Given the description of an element on the screen output the (x, y) to click on. 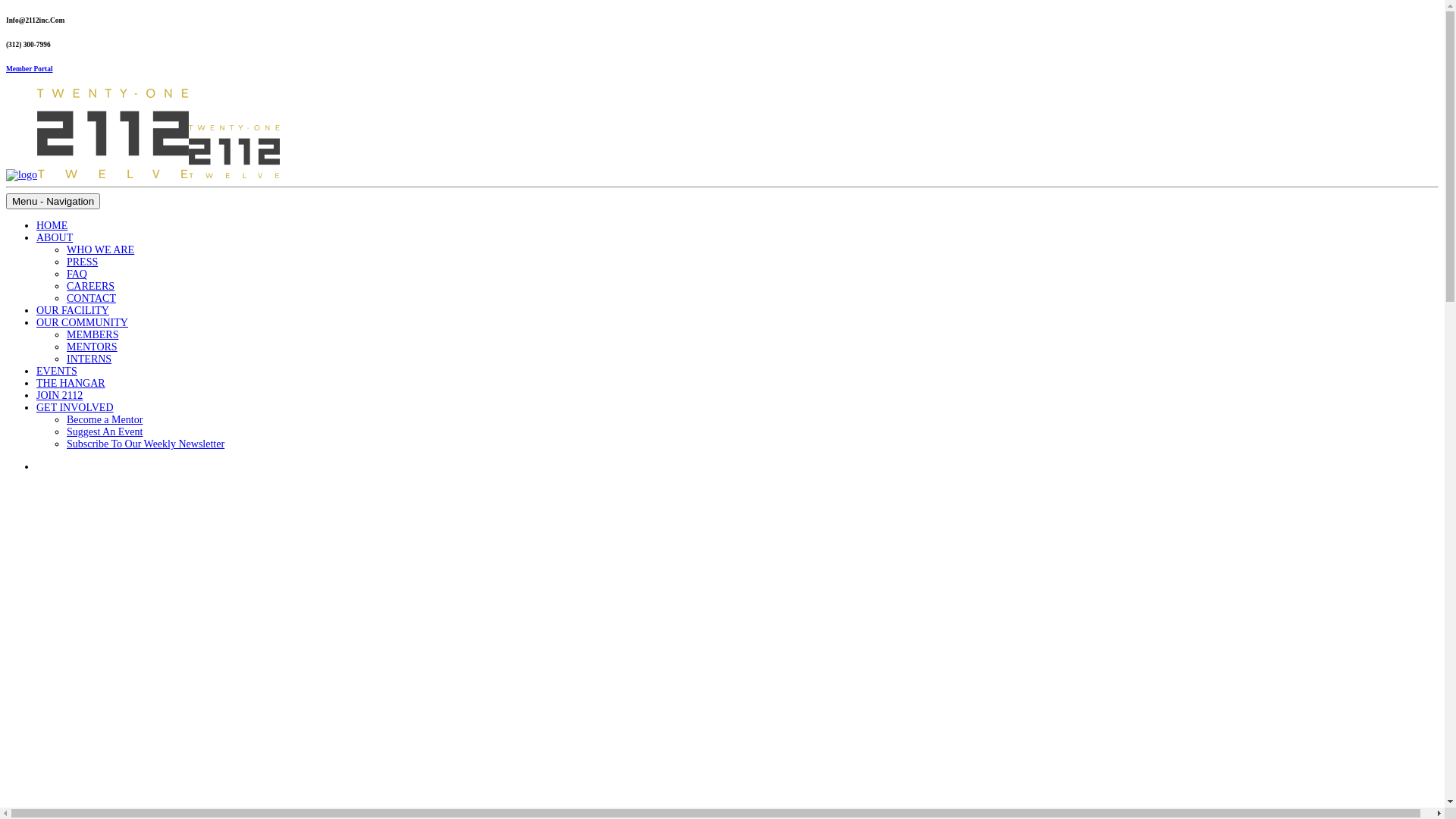
CAREERS Element type: text (90, 285)
Subscribe To Our Weekly Newsletter Element type: text (145, 443)
MEMBERS Element type: text (92, 334)
Become a Mentor Element type: text (104, 419)
THE HANGAR Element type: text (70, 383)
EVENTS Element type: text (56, 370)
GET INVOLVED Element type: text (74, 407)
FAQ Element type: text (76, 273)
Member Portal Element type: text (29, 68)
CONTACT Element type: text (91, 298)
HOME Element type: text (51, 225)
Menu - Navigation Element type: text (53, 201)
Suggest An Event Element type: text (104, 431)
OUR FACILITY Element type: text (72, 310)
INTERNS Element type: text (88, 358)
WHO WE ARE Element type: text (100, 249)
JOIN 2112 Element type: text (59, 395)
OUR COMMUNITY Element type: text (82, 322)
ABOUT Element type: text (54, 237)
MENTORS Element type: text (91, 346)
PRESS Element type: text (81, 261)
